Given the description of an element on the screen output the (x, y) to click on. 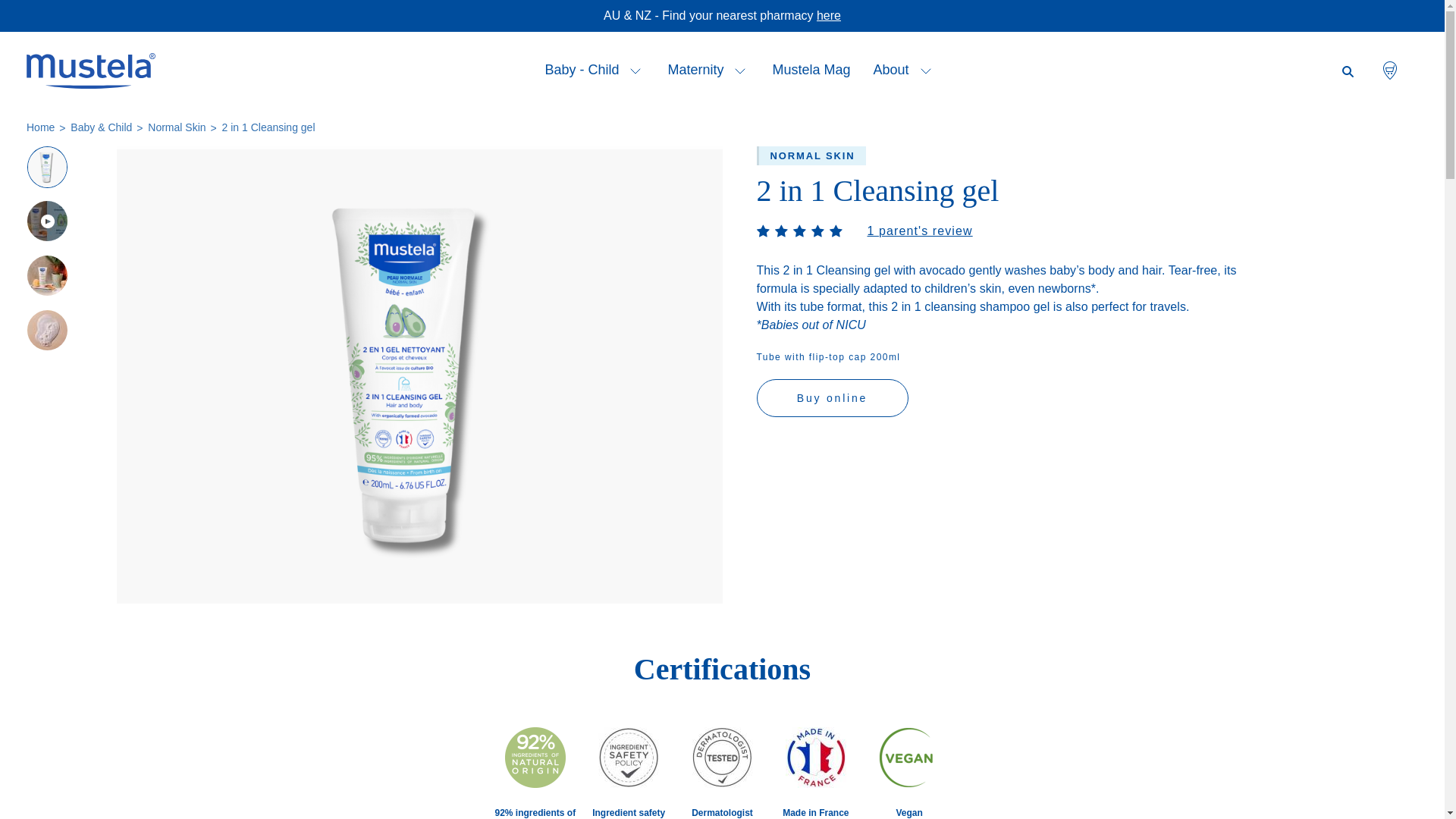
Baby - Child Element type: text (631, 70)
Baby - Child Element type: text (581, 70)
Maternity Element type: text (695, 70)
Normal Skin Element type: text (176, 127)
Mustela Mag Element type: text (810, 70)
here Element type: text (828, 15)
Skip to main content Element type: text (0, 0)
Baby & Child Element type: text (100, 127)
Buy online Element type: text (832, 398)
Start a research Element type: text (1347, 71)
About Element type: text (891, 70)
Home Element type: text (40, 127)
1 parent's review Element type: text (919, 230)
Maternity Element type: text (736, 70)
About Element type: text (922, 70)
